Given the description of an element on the screen output the (x, y) to click on. 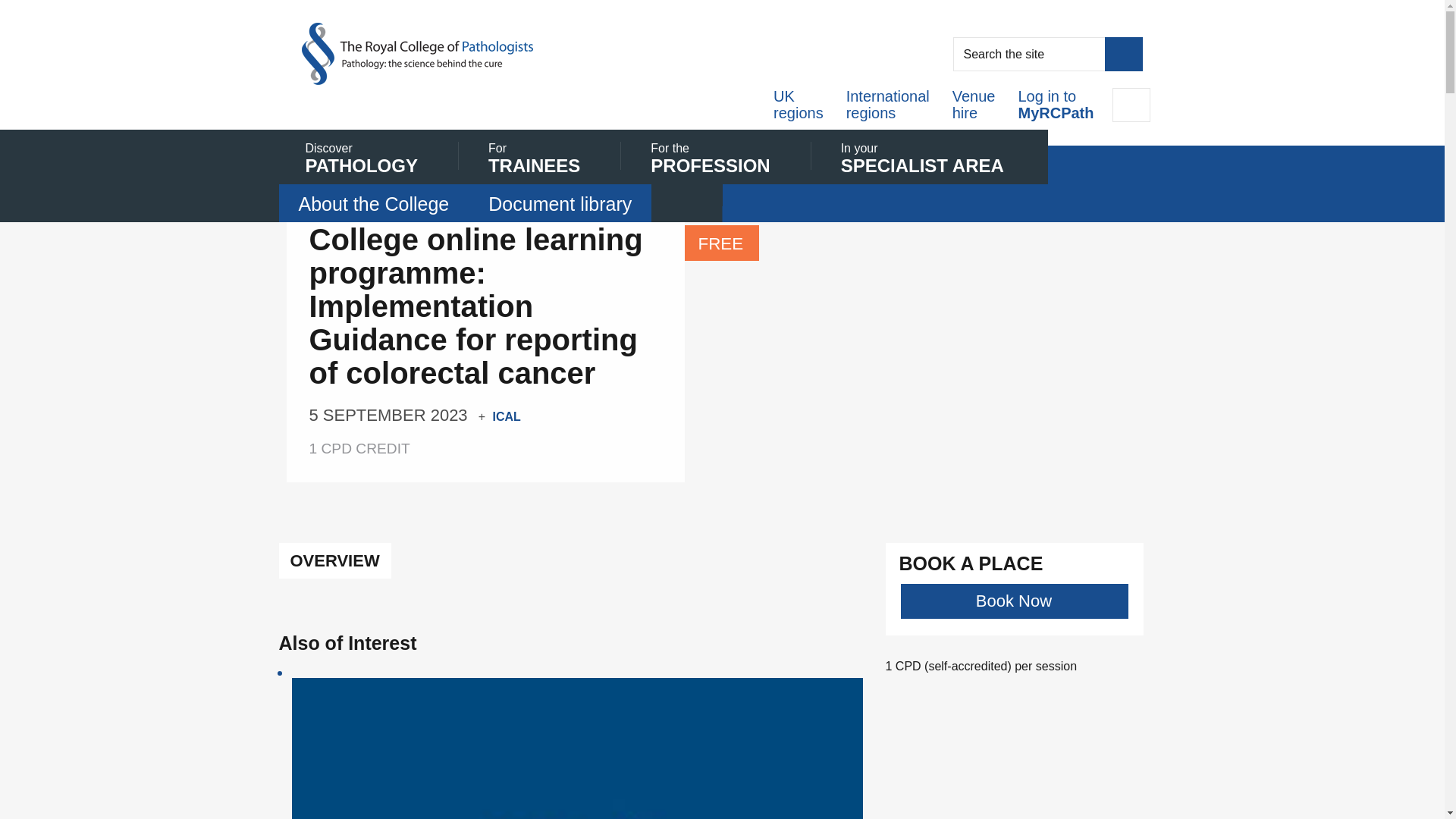
submit (541, 158)
